Given the description of an element on the screen output the (x, y) to click on. 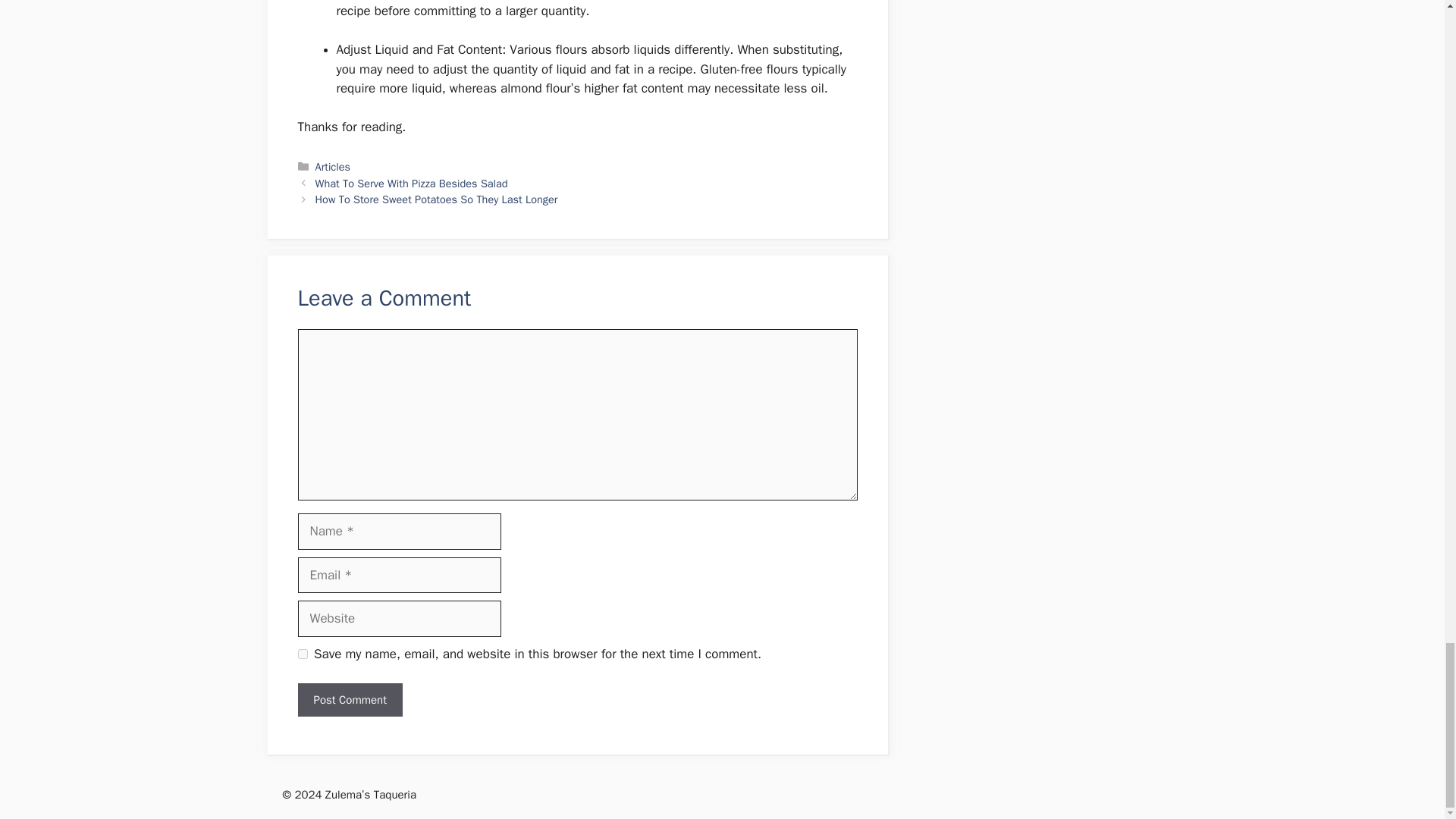
Post Comment (349, 700)
yes (302, 654)
Post Comment (349, 700)
What To Serve With Pizza Besides Salad (411, 183)
How To Store Sweet Potatoes So They Last Longer (436, 199)
Articles (332, 166)
